Given the description of an element on the screen output the (x, y) to click on. 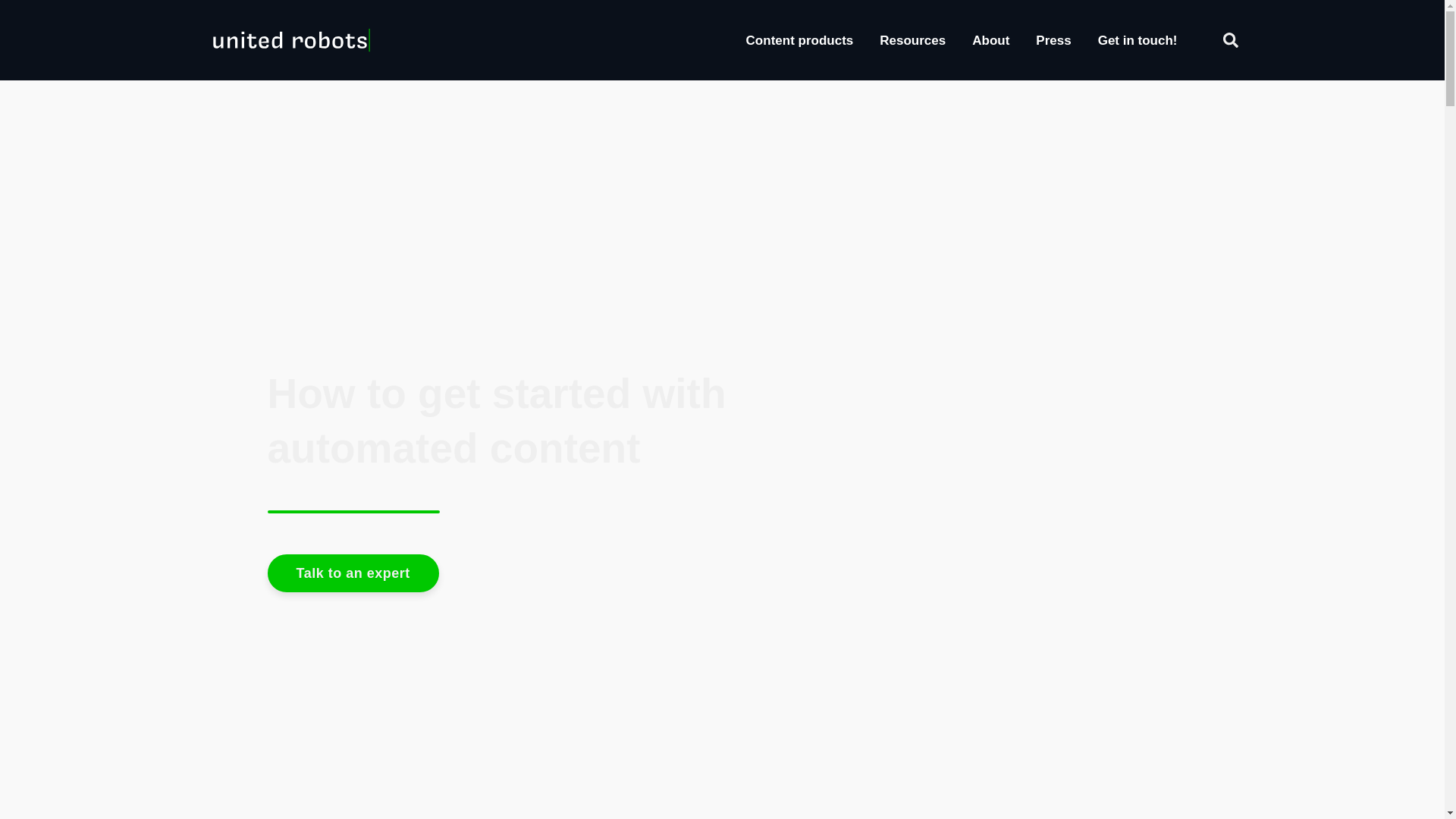
United Robots (290, 39)
Content products (799, 40)
Press (1052, 40)
About (990, 40)
Get in touch! (1137, 40)
Talk to an expert (352, 573)
Resources (911, 40)
